Given the description of an element on the screen output the (x, y) to click on. 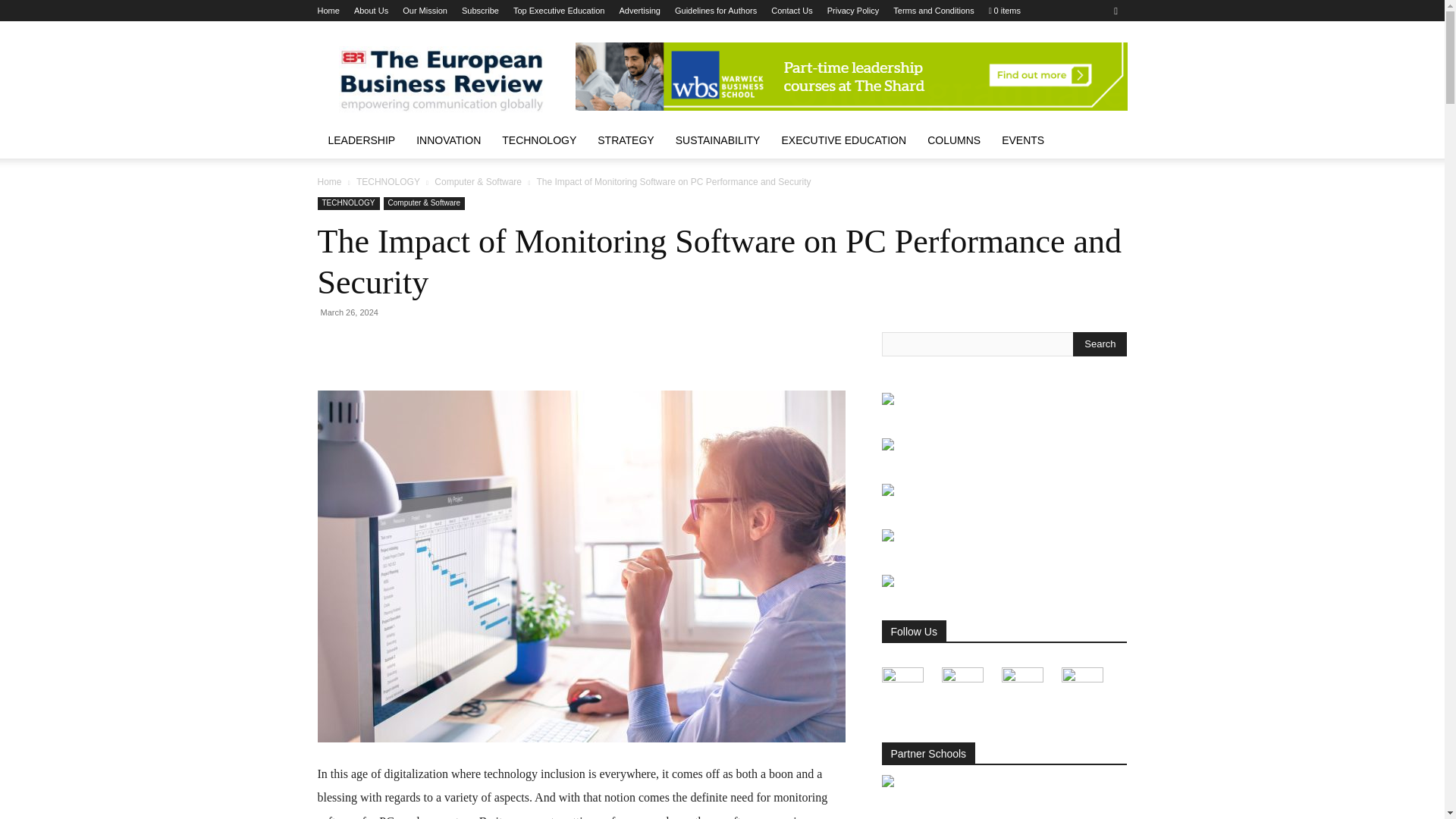
Innovation (449, 140)
advertisement (850, 76)
Start shopping (1004, 10)
View all posts in TECHNOLOGY (388, 181)
Search (1099, 344)
